Given the description of an element on the screen output the (x, y) to click on. 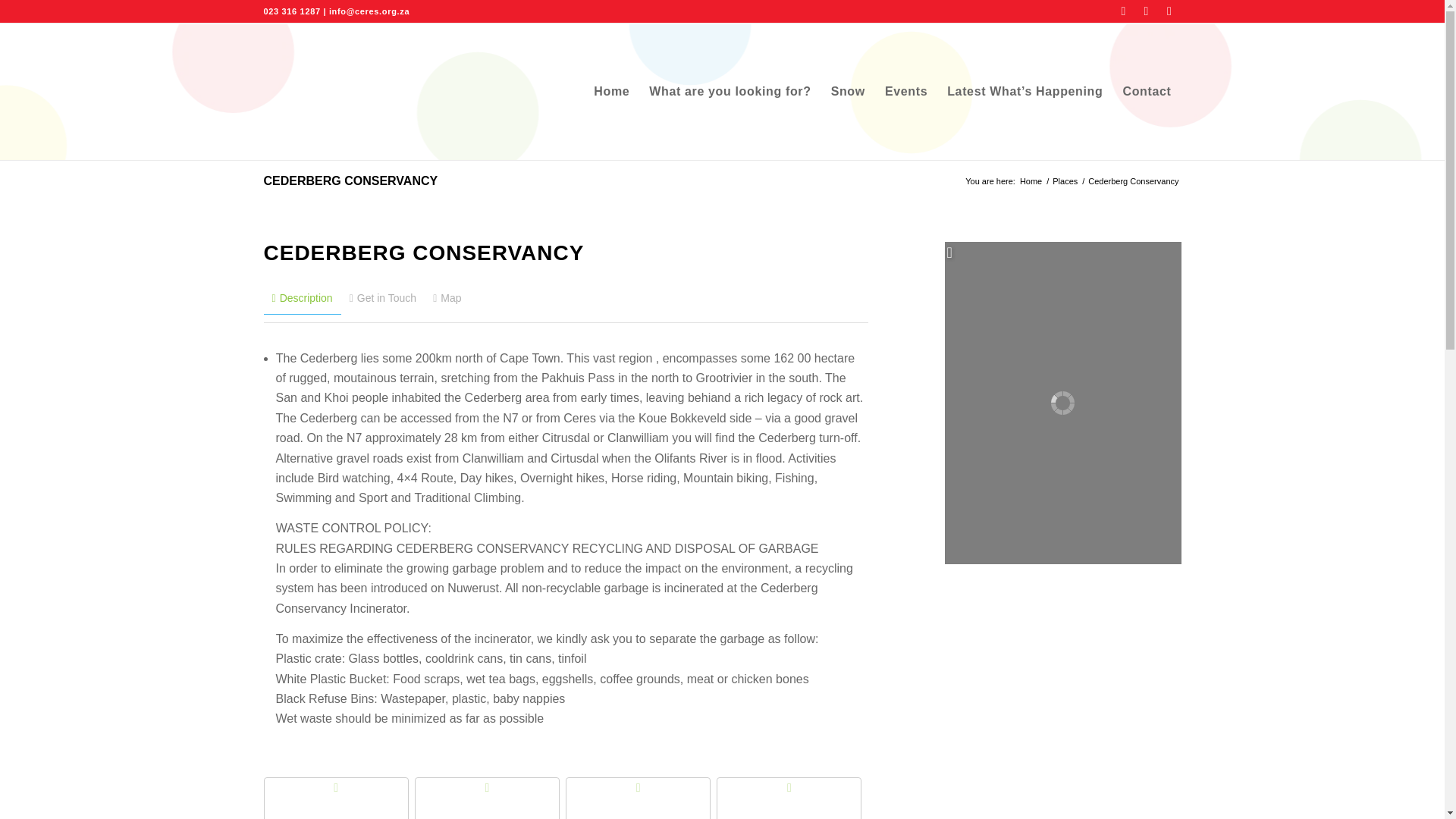
What are you looking for? (730, 91)
Ceres Tourism Bureau (1030, 181)
Instagram (1146, 11)
Facebook (1124, 11)
Places (1064, 181)
Permanent Link: Cederberg Conservancy (350, 180)
Mail (1169, 11)
